Given the description of an element on the screen output the (x, y) to click on. 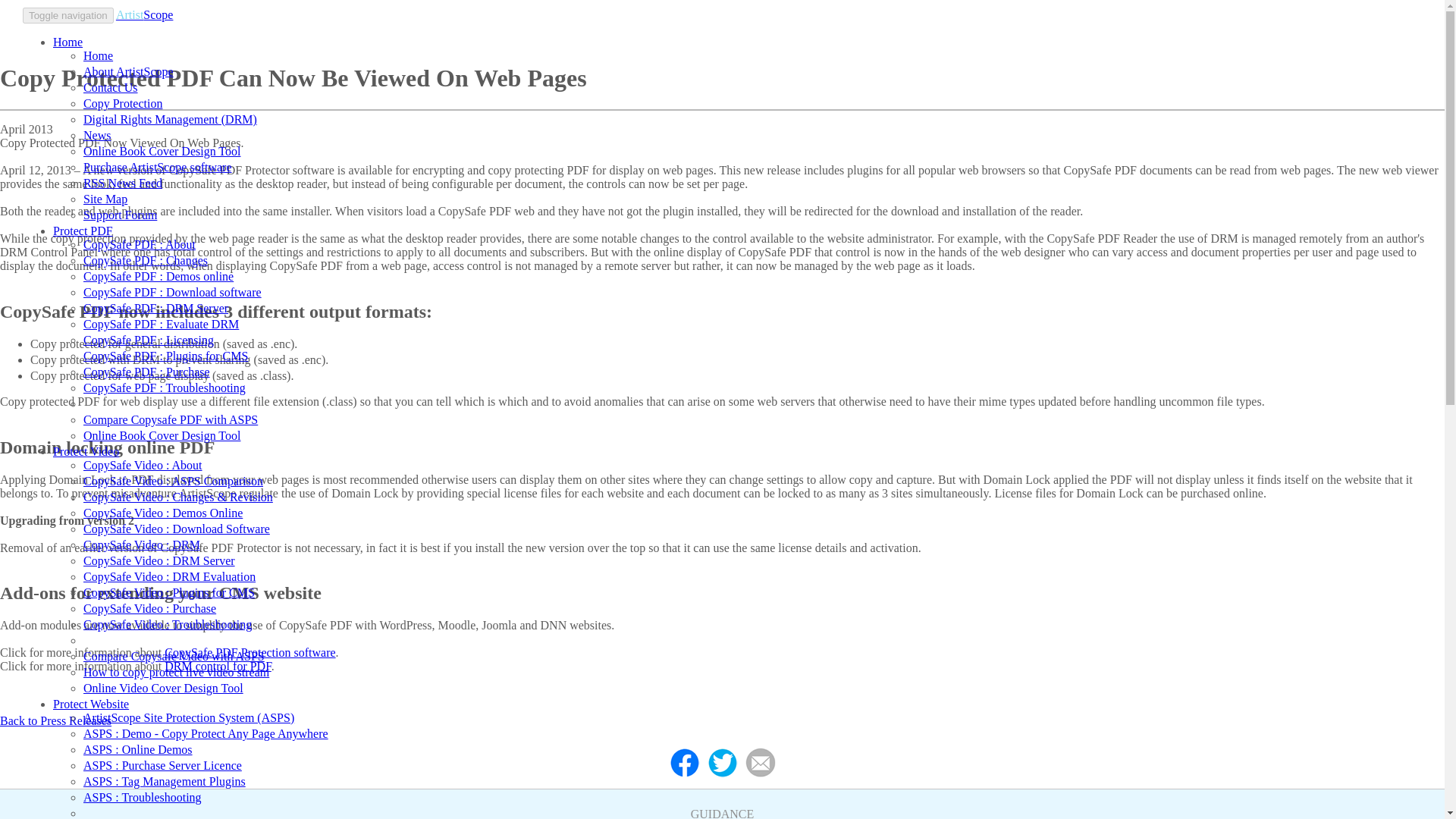
Online Book Cover Design Tool (161, 435)
Download CopySafe PDF Protection software (172, 291)
News (96, 134)
About Copy Protection (121, 103)
Site Map (105, 198)
About our online book cover design tool (161, 151)
Toggle navigation (68, 15)
CopySafe PDF : Licensing (148, 339)
14 day free DRM trial of Copysafe PDF (160, 323)
Protect Video (85, 451)
CopySafe PDF : Evaluate DRM (160, 323)
Purchase ArtistScope software (156, 166)
CopySafe Video : DRM Server (158, 560)
CopySafe PDF : DRM Server (155, 308)
About ArtistScope (127, 71)
